Given the description of an element on the screen output the (x, y) to click on. 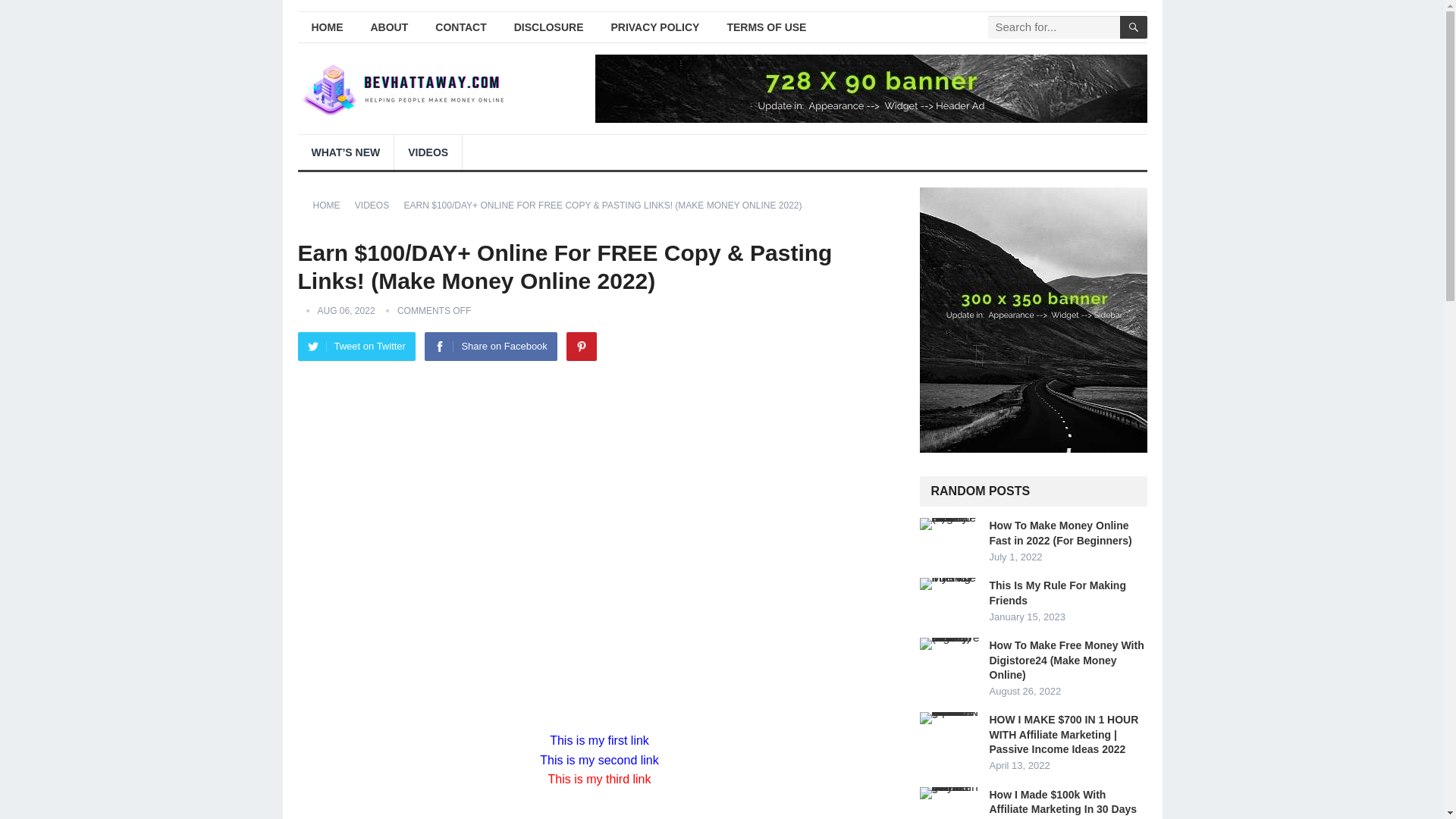
CONTACT (460, 27)
TERMS OF USE (766, 27)
Share on Facebook (490, 346)
VIDEOS (427, 152)
This Is My Rule For Making Friends 14 (948, 583)
ABOUT (389, 27)
This is my third link (598, 779)
Pinterest (581, 346)
View all posts in Videos (376, 204)
HOME (326, 27)
VIDEOS (376, 204)
PRIVACY POLICY (654, 27)
Tweet on Twitter (355, 346)
DISCLOSURE (548, 27)
This is my second link (599, 759)
